Given the description of an element on the screen output the (x, y) to click on. 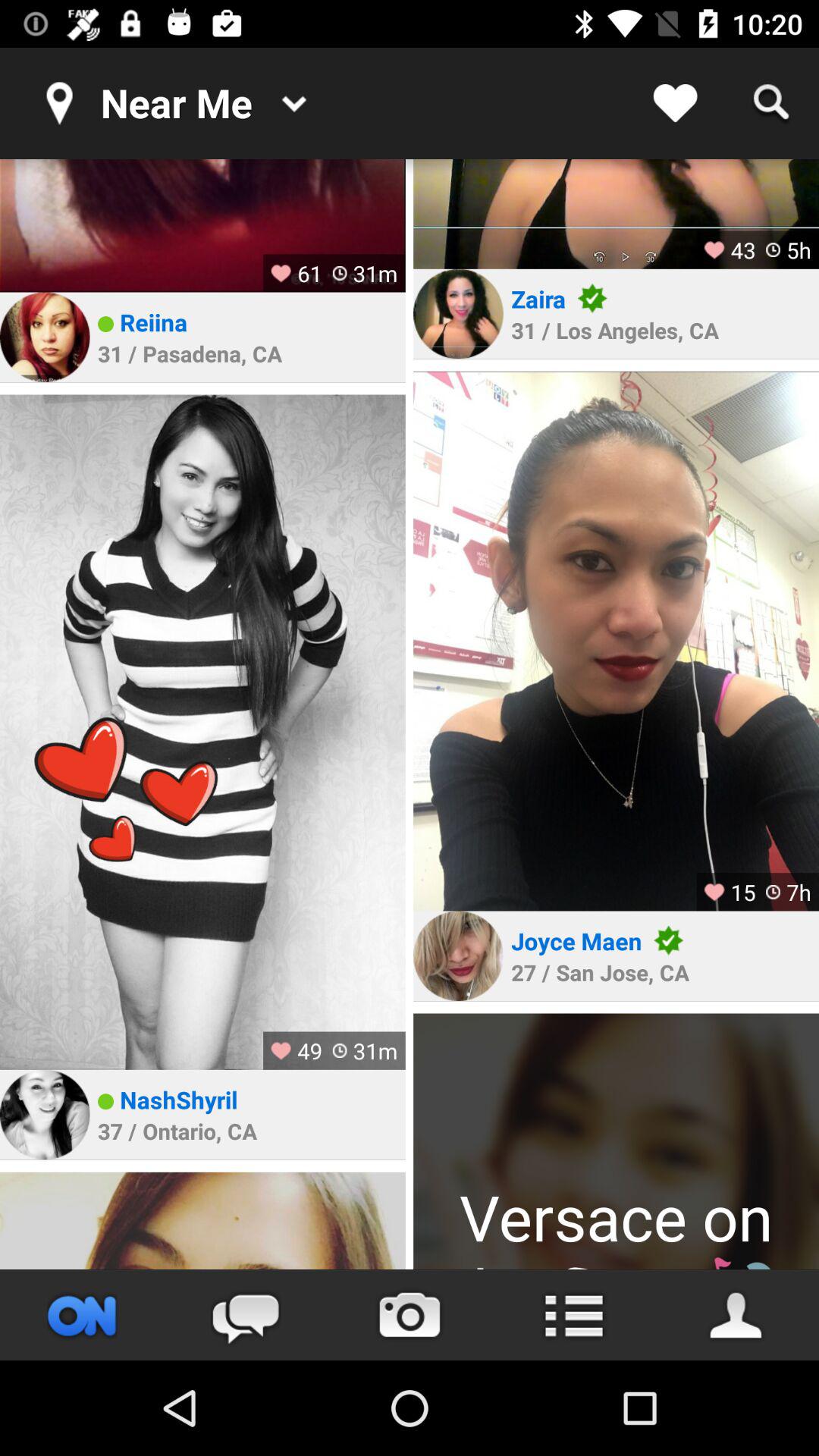
flip to the nashshyril icon (178, 1099)
